Given the description of an element on the screen output the (x, y) to click on. 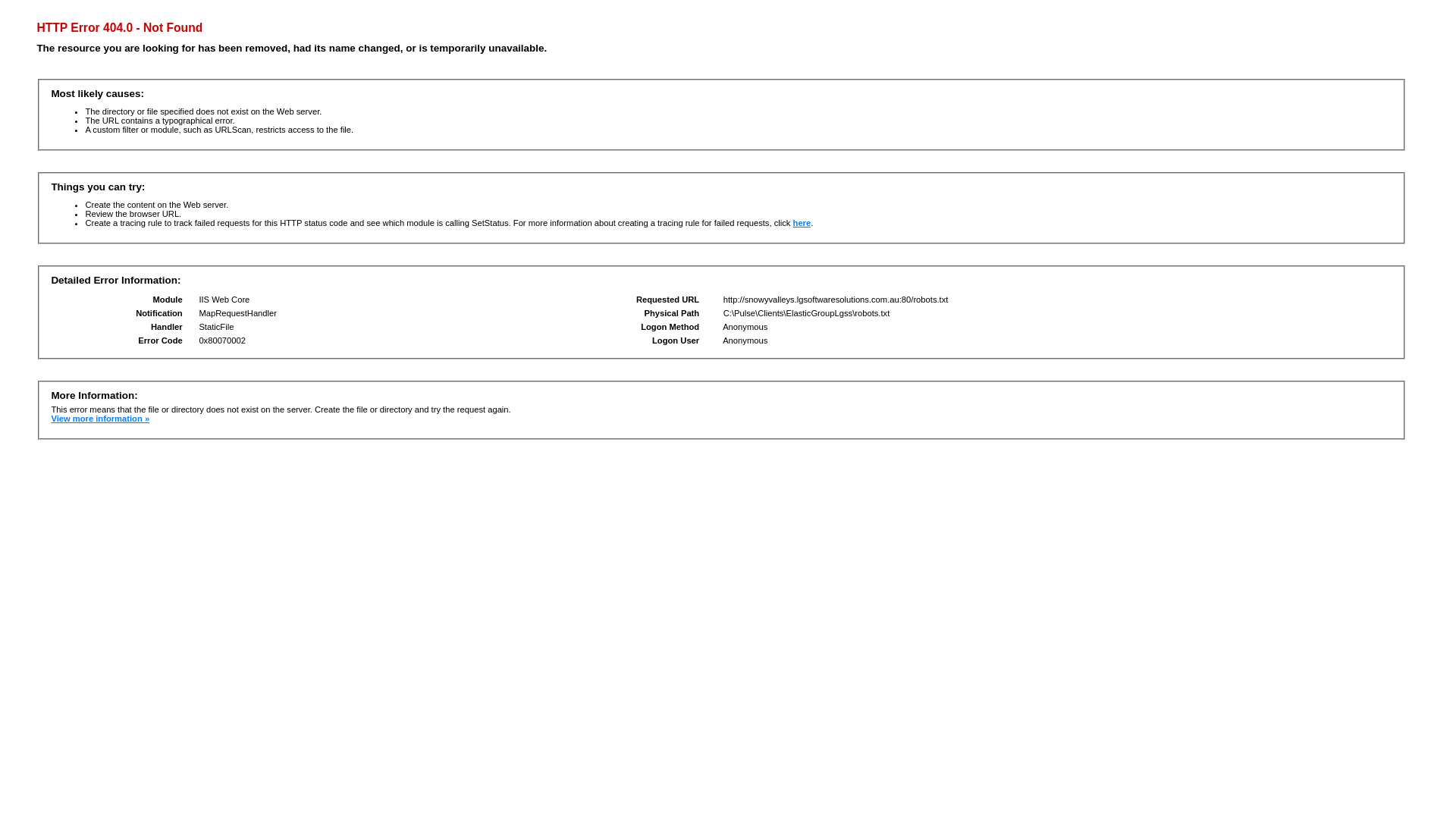
here Element type: text (802, 222)
